Given the description of an element on the screen output the (x, y) to click on. 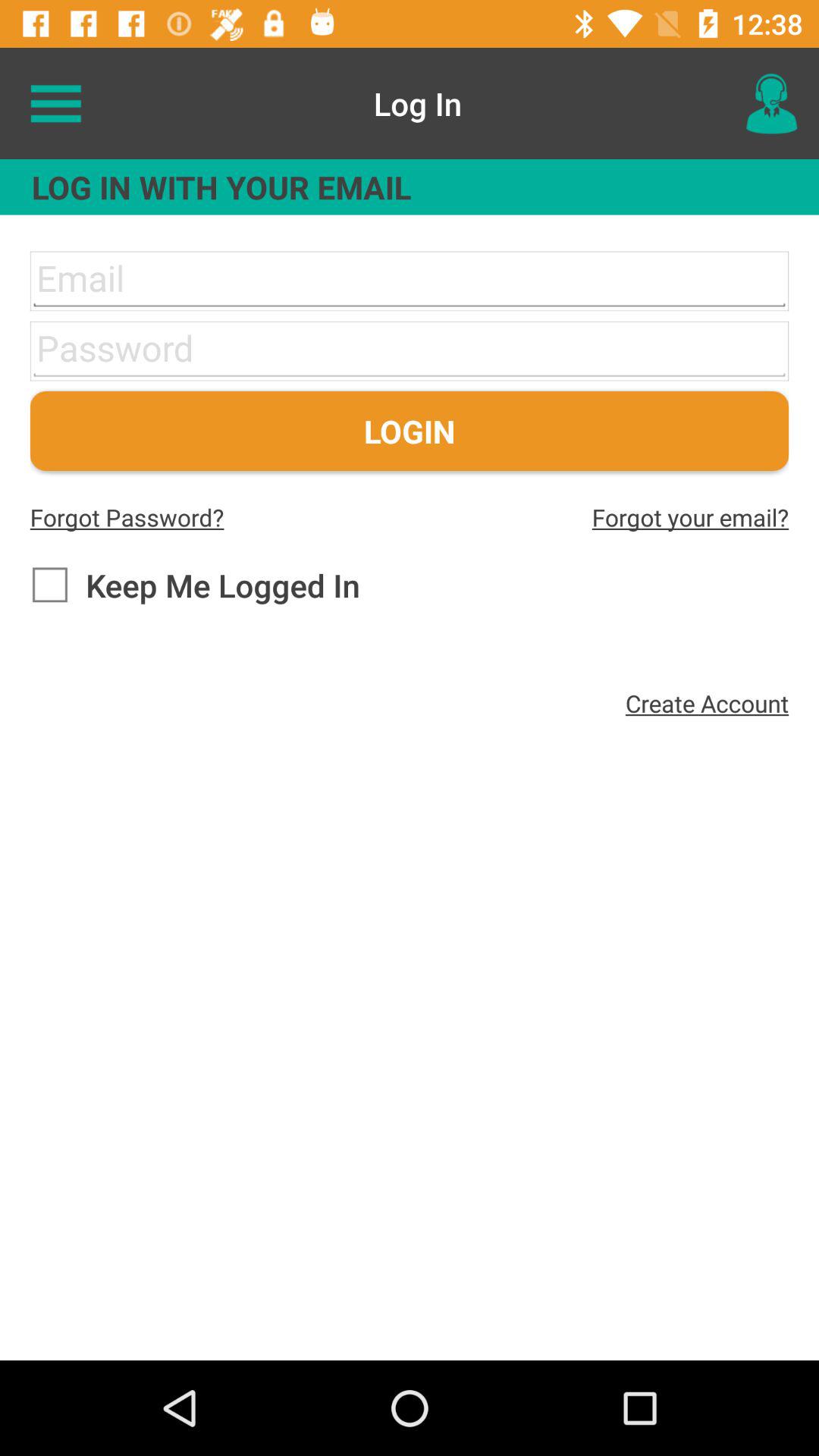
open the keep me logged icon (195, 584)
